Given the description of an element on the screen output the (x, y) to click on. 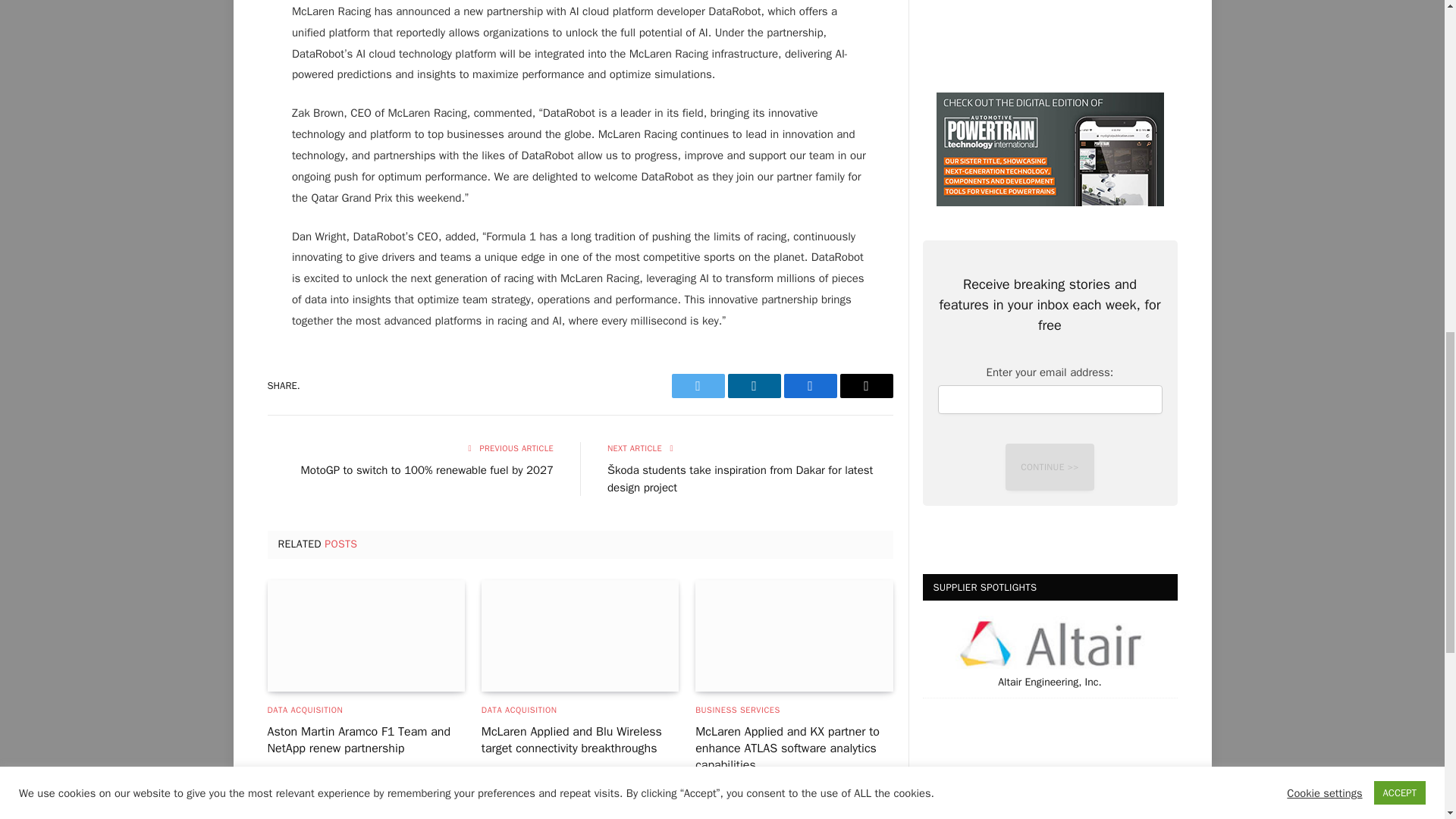
Share on Twitter (698, 385)
Share on LinkedIn (754, 385)
Share on Facebook (810, 385)
